Given the description of an element on the screen output the (x, y) to click on. 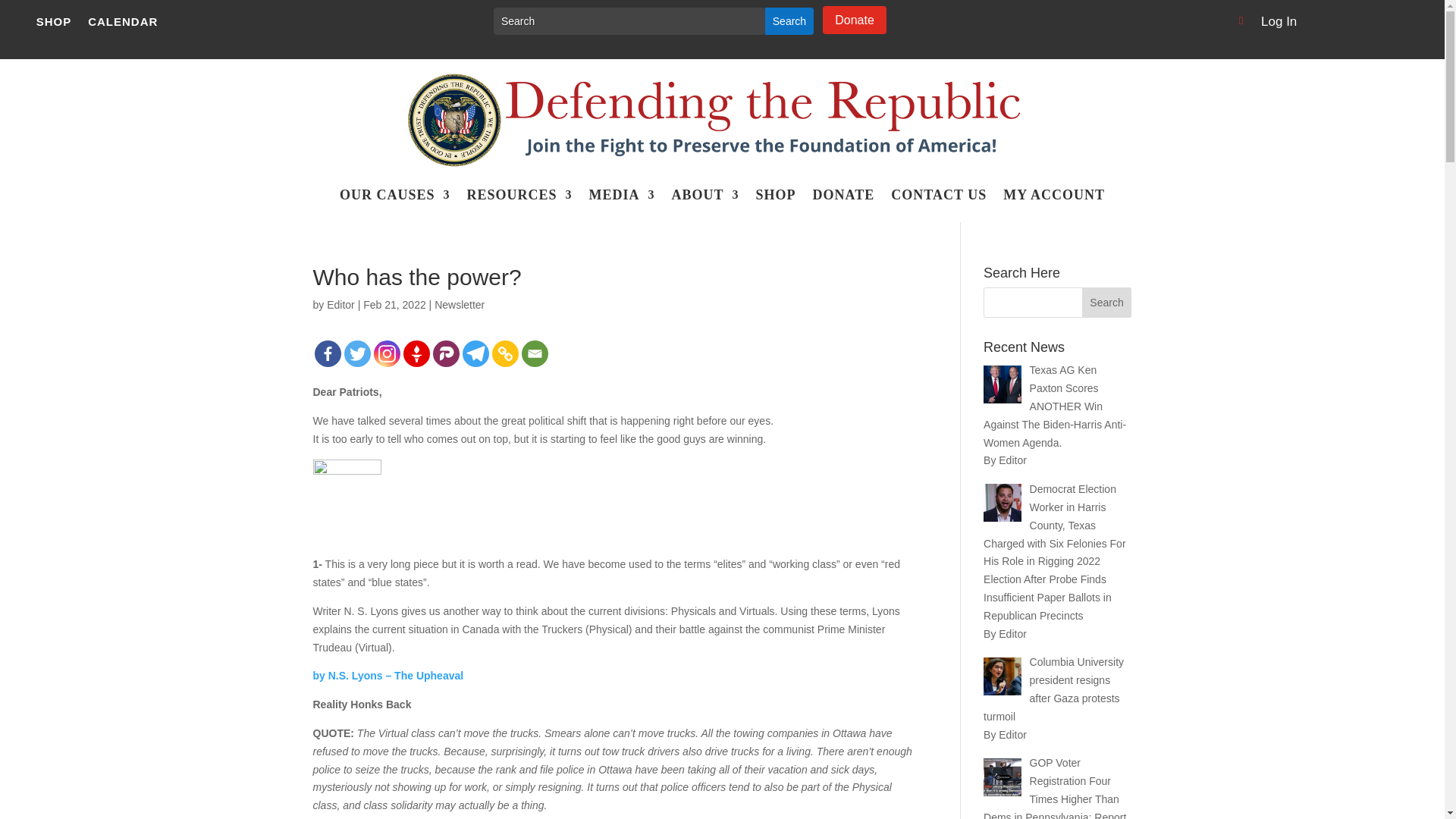
CONTACT US (939, 205)
Search (789, 21)
OUR CAUSES (394, 205)
Search (789, 21)
Search (789, 21)
Posts by Editor (340, 304)
Donate (854, 19)
Email (534, 353)
MEDIA (622, 205)
CALENDAR (122, 24)
